Given the description of an element on the screen output the (x, y) to click on. 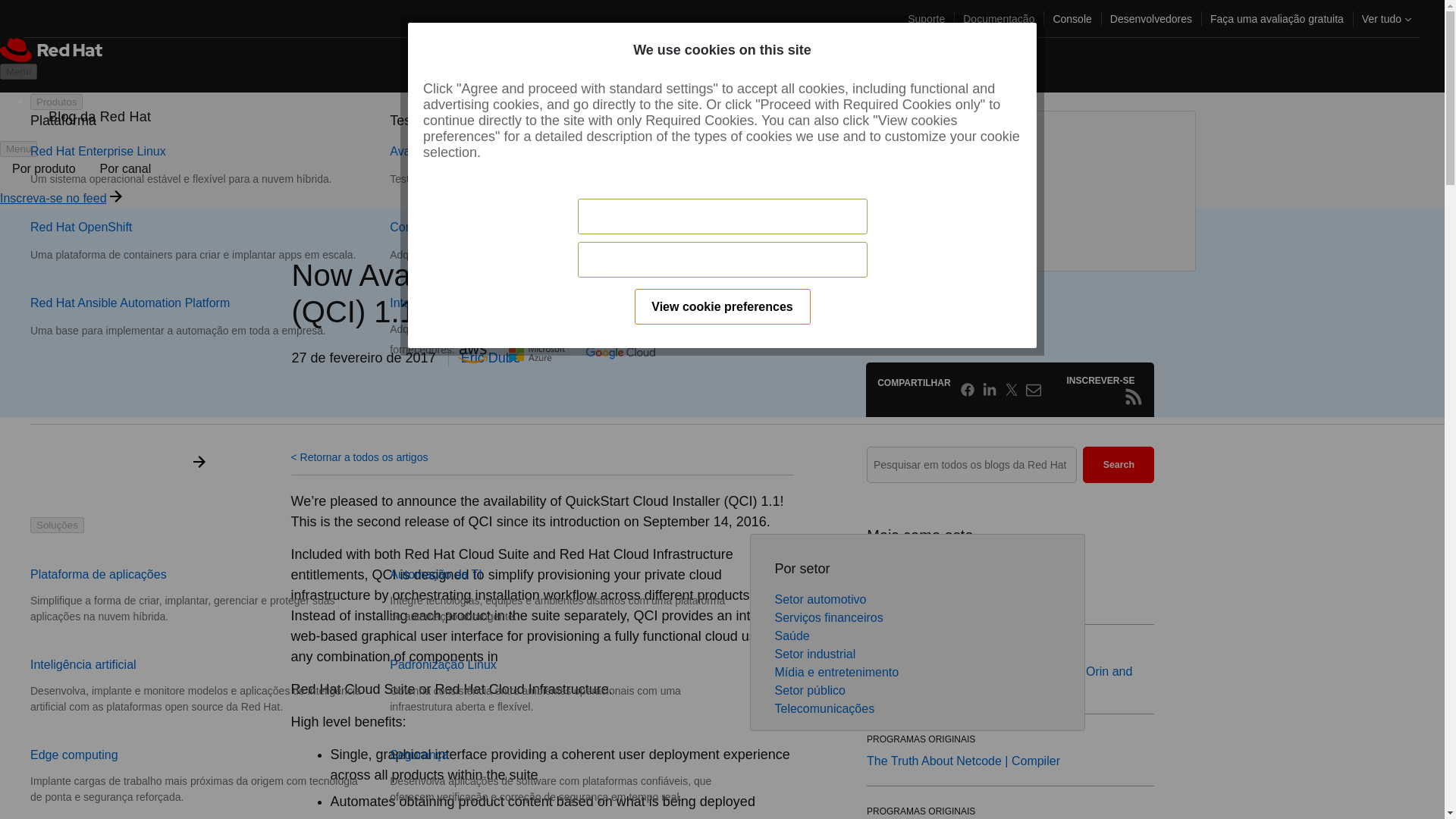
Ver tudo (1386, 18)
Suporte (925, 18)
Console (1071, 18)
Desenvolvedores (1150, 18)
Inscreva-se no feed (53, 197)
Inscrever-se (1132, 396)
